Given the description of an element on the screen output the (x, y) to click on. 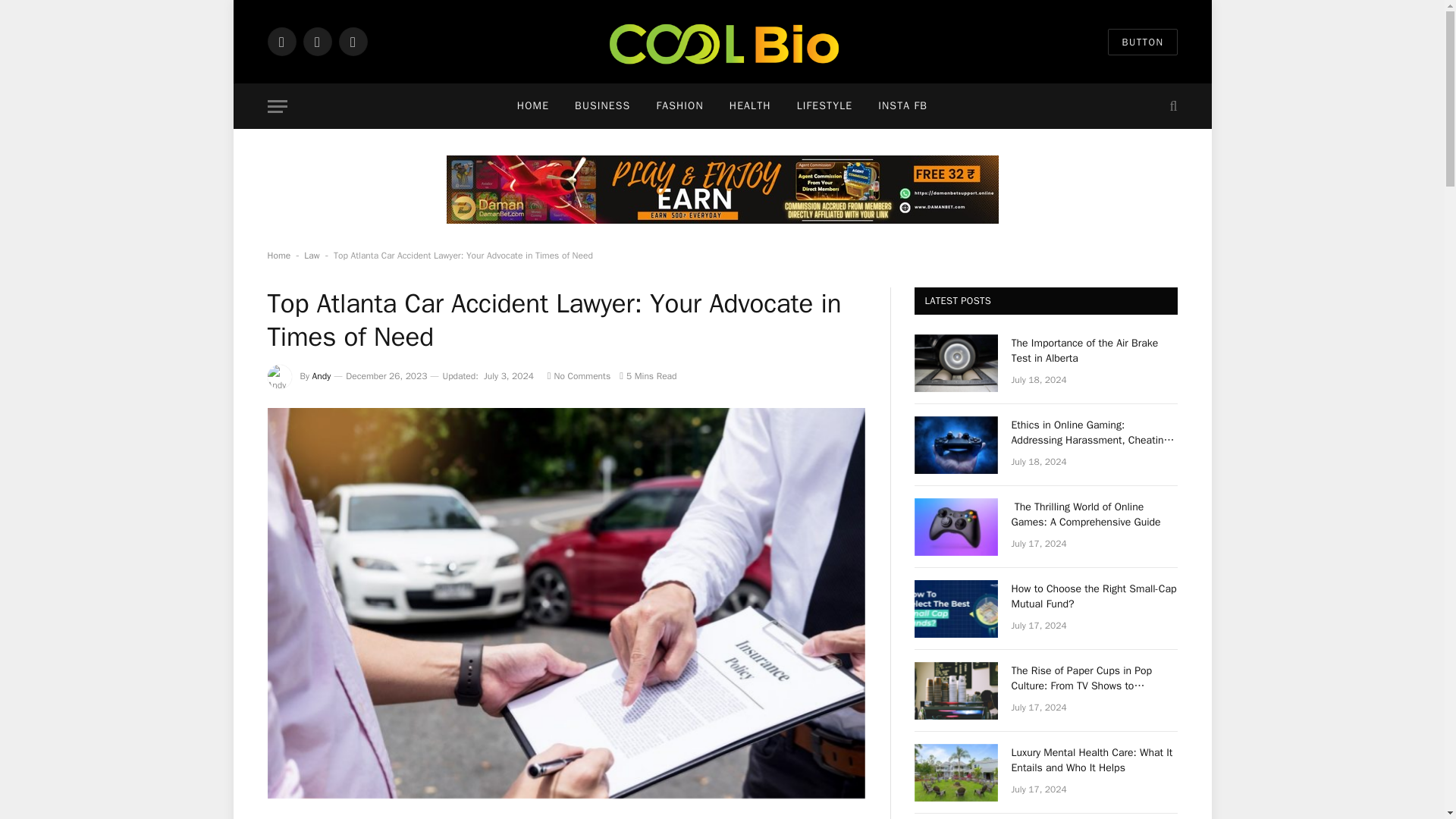
Cool Bio (722, 41)
BUTTON (1142, 41)
HOME (532, 105)
Instagram (351, 41)
Posts by Andy (322, 376)
Andy (322, 376)
Home (277, 255)
Facebook (280, 41)
HEALTH (750, 105)
Law (311, 255)
LIFESTYLE (825, 105)
BUSINESS (602, 105)
INSTA FB (902, 105)
No Comments (578, 376)
